Given the description of an element on the screen output the (x, y) to click on. 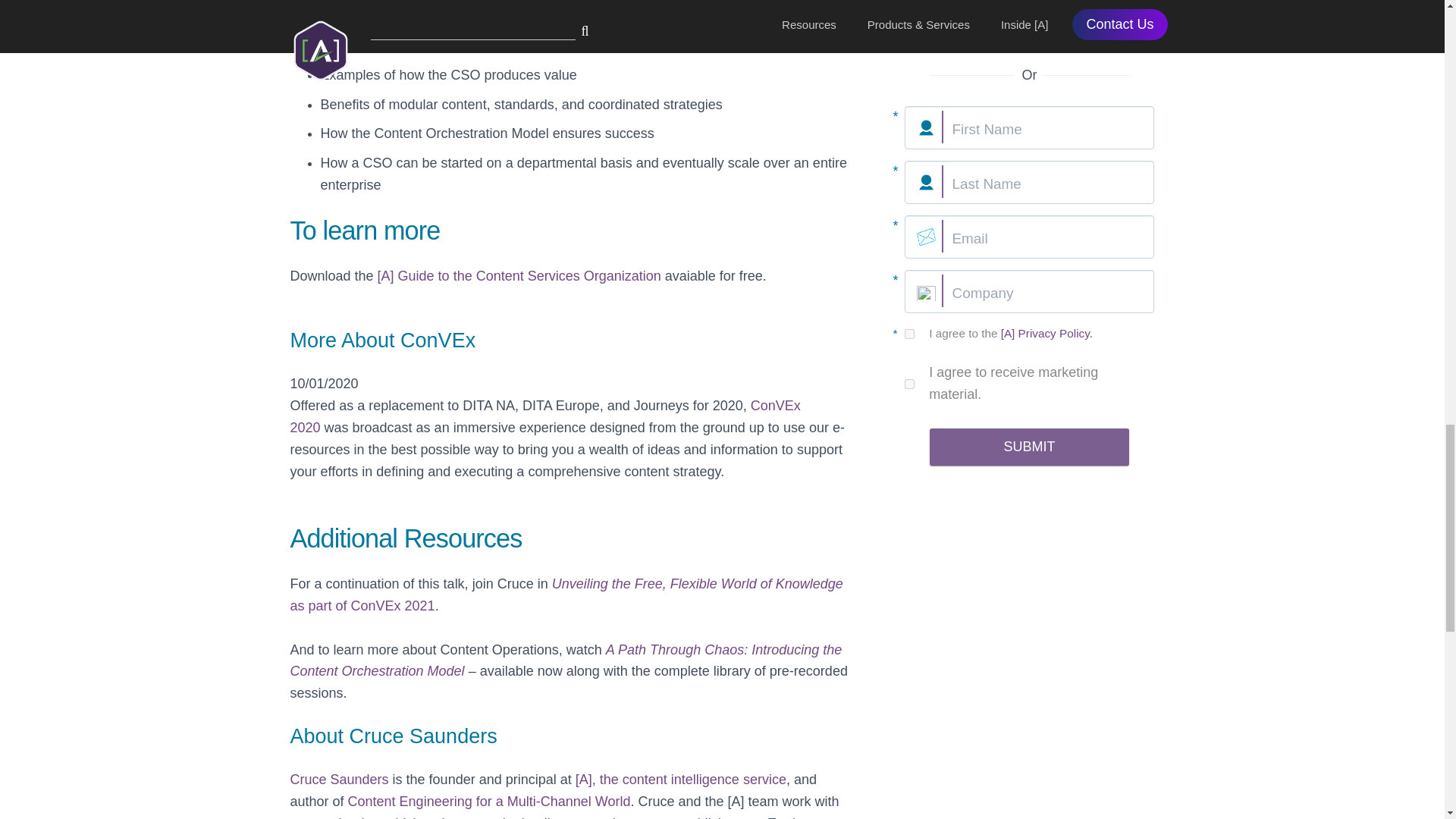
ConVEx 2020 (544, 416)
Cruce Saunders (338, 779)
Content Engineering for a Multi-Channel World (488, 801)
